Given the description of an element on the screen output the (x, y) to click on. 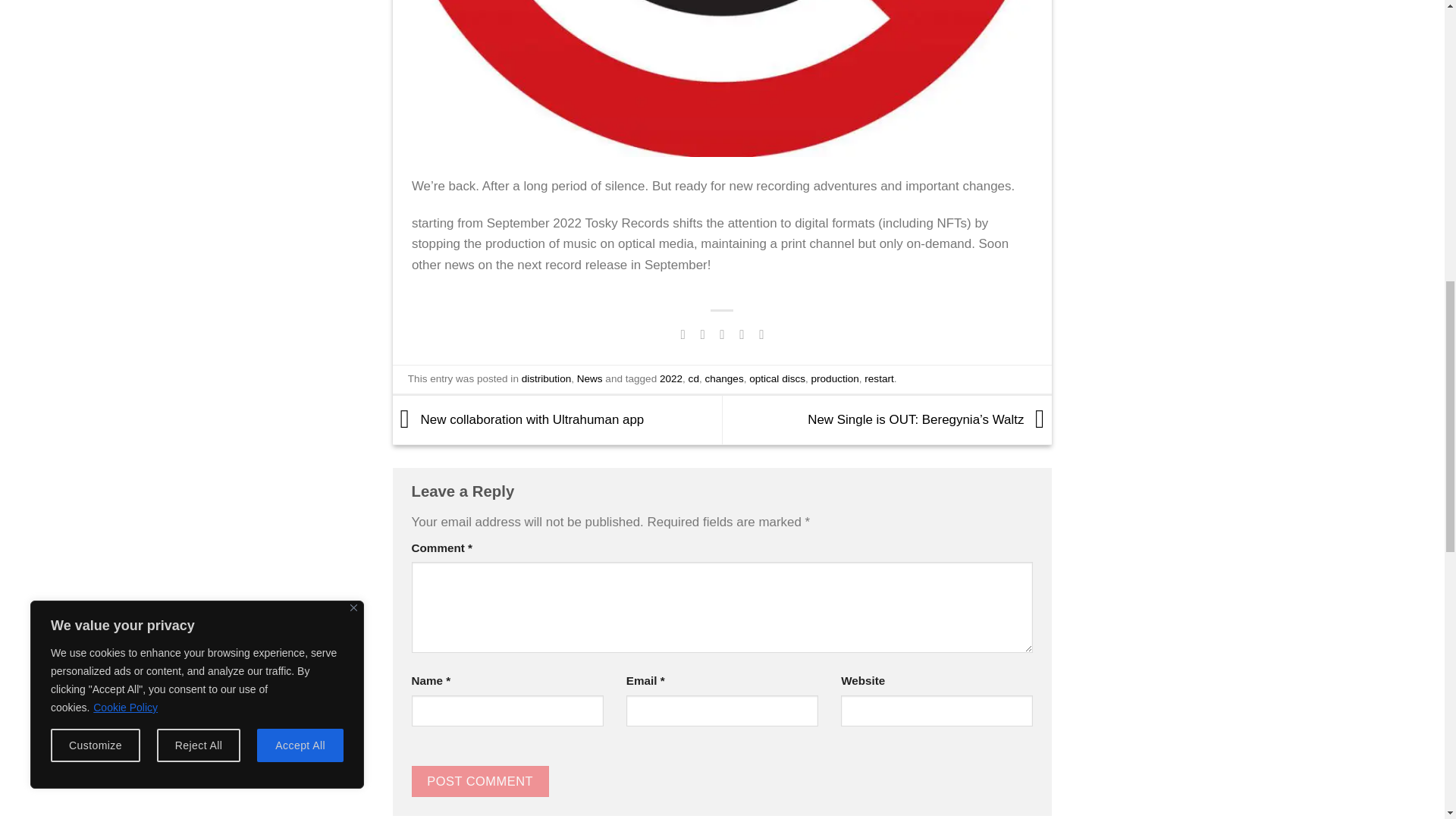
Post Comment (479, 780)
